Given the description of an element on the screen output the (x, y) to click on. 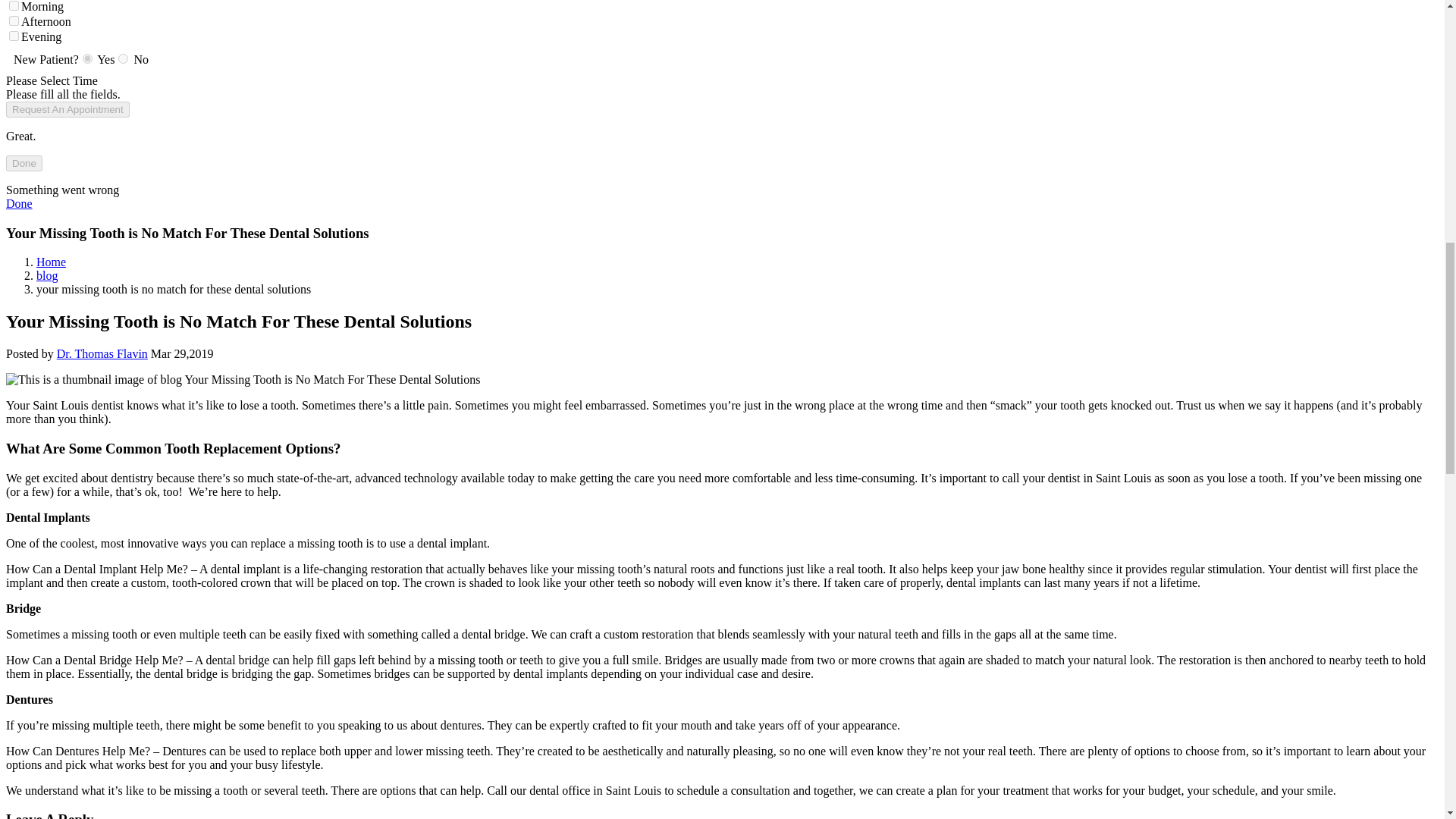
Morning (13, 5)
blog (47, 275)
Request An Appointment (67, 109)
New Patient (87, 58)
Done (23, 163)
Afternoon (13, 20)
Evening (13, 35)
Existing Patient (122, 58)
Home (50, 261)
Done (18, 203)
